Given the description of an element on the screen output the (x, y) to click on. 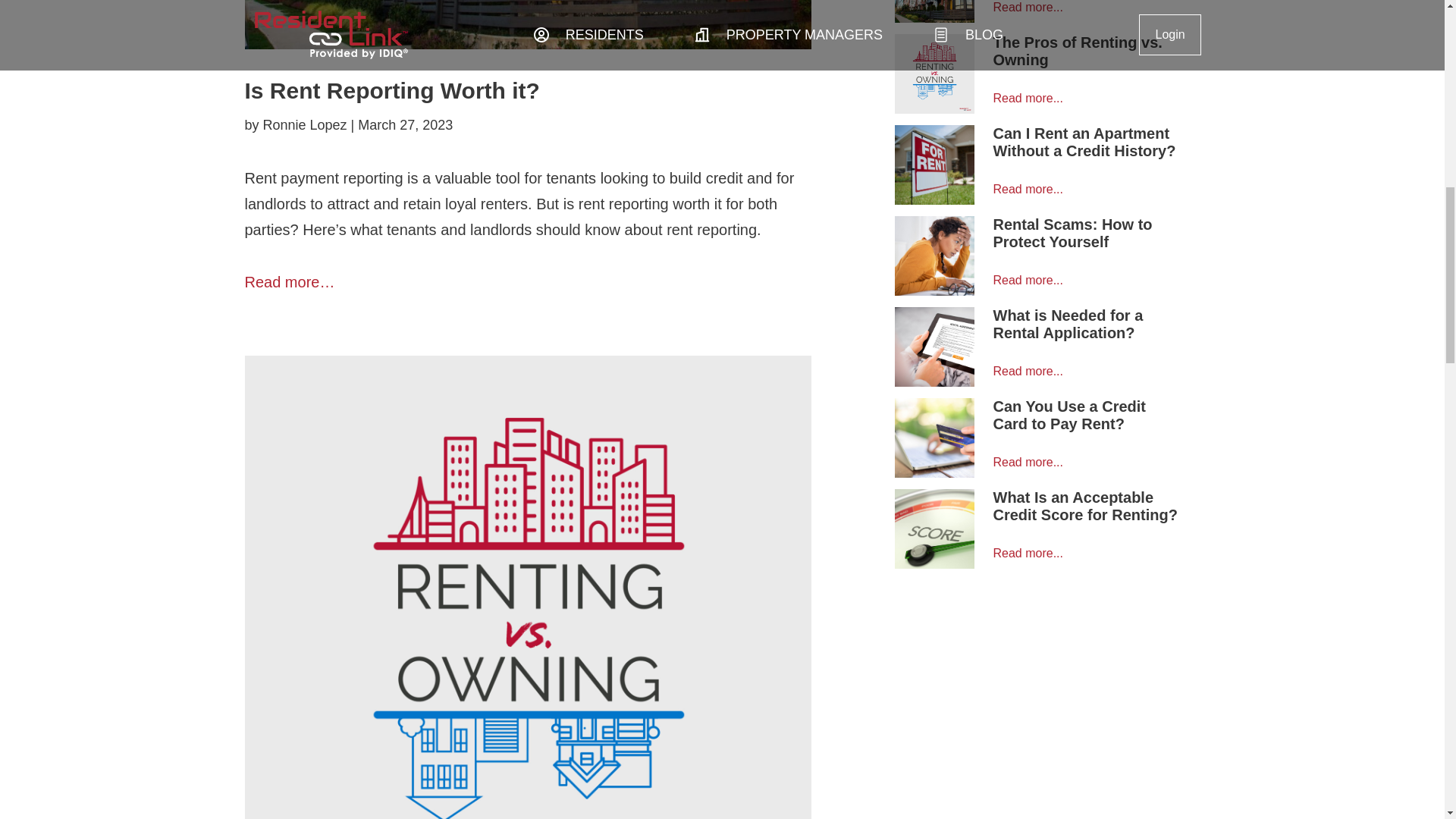
Read more... (1027, 97)
Read more... (1027, 188)
Can I Rent an Apartment Without a Credit History? (1084, 141)
Read more... (1027, 279)
The Pros of Renting vs. Owning (1076, 50)
Rental Scams: How to Protect Yourself (1072, 233)
Read more... (1027, 6)
Is Rent Reporting Worth it? (391, 90)
